Given the description of an element on the screen output the (x, y) to click on. 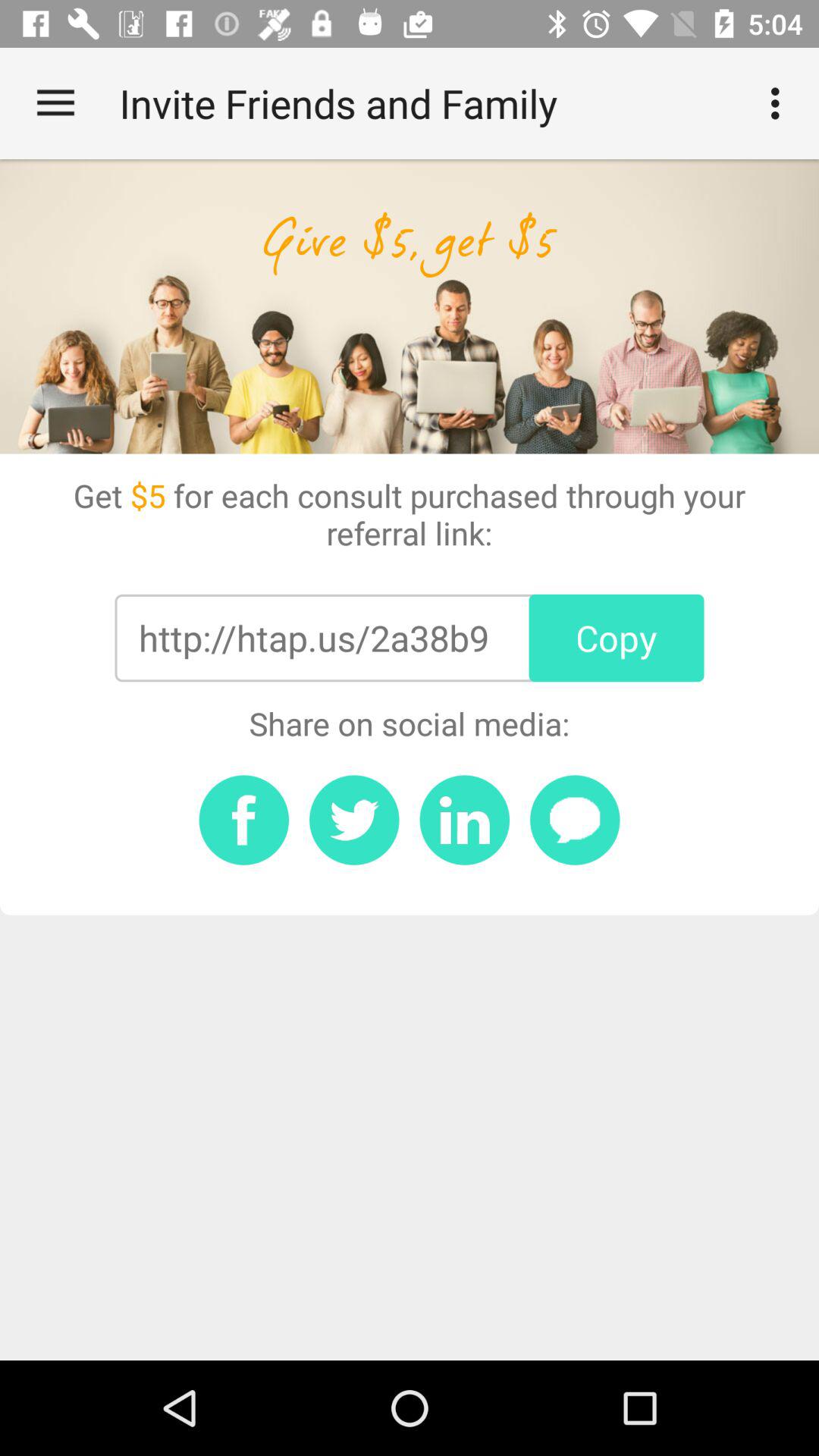
click the item at the top left corner (55, 103)
